Given the description of an element on the screen output the (x, y) to click on. 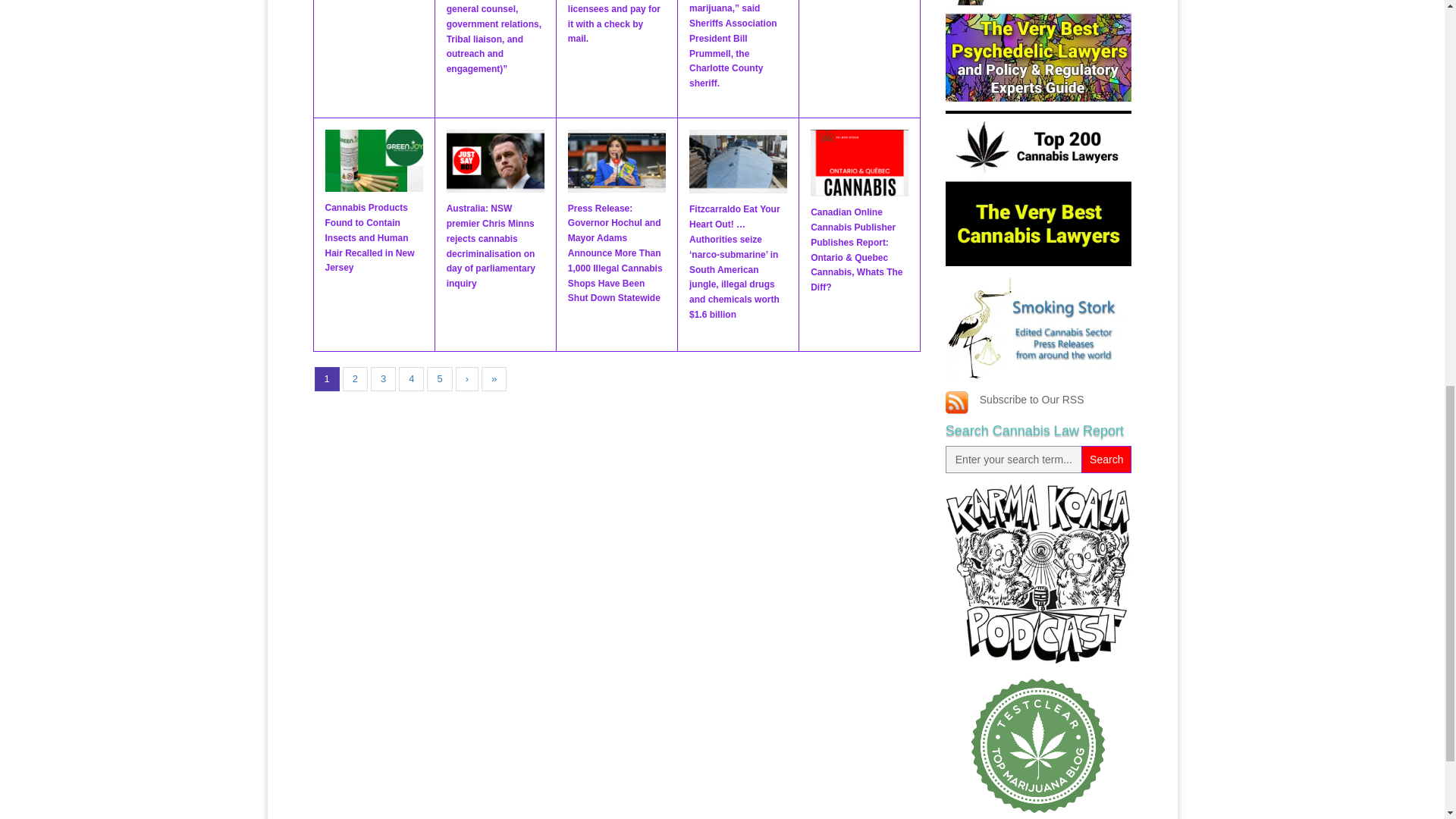
Search (1106, 459)
Search (1106, 459)
Go to next page (467, 379)
Current page is 1 (326, 379)
Go to last page (493, 379)
Go to page 3 (383, 379)
Go to page 2 (355, 379)
Go to page 5 (438, 379)
Go to page 4 (410, 379)
